Given the description of an element on the screen output the (x, y) to click on. 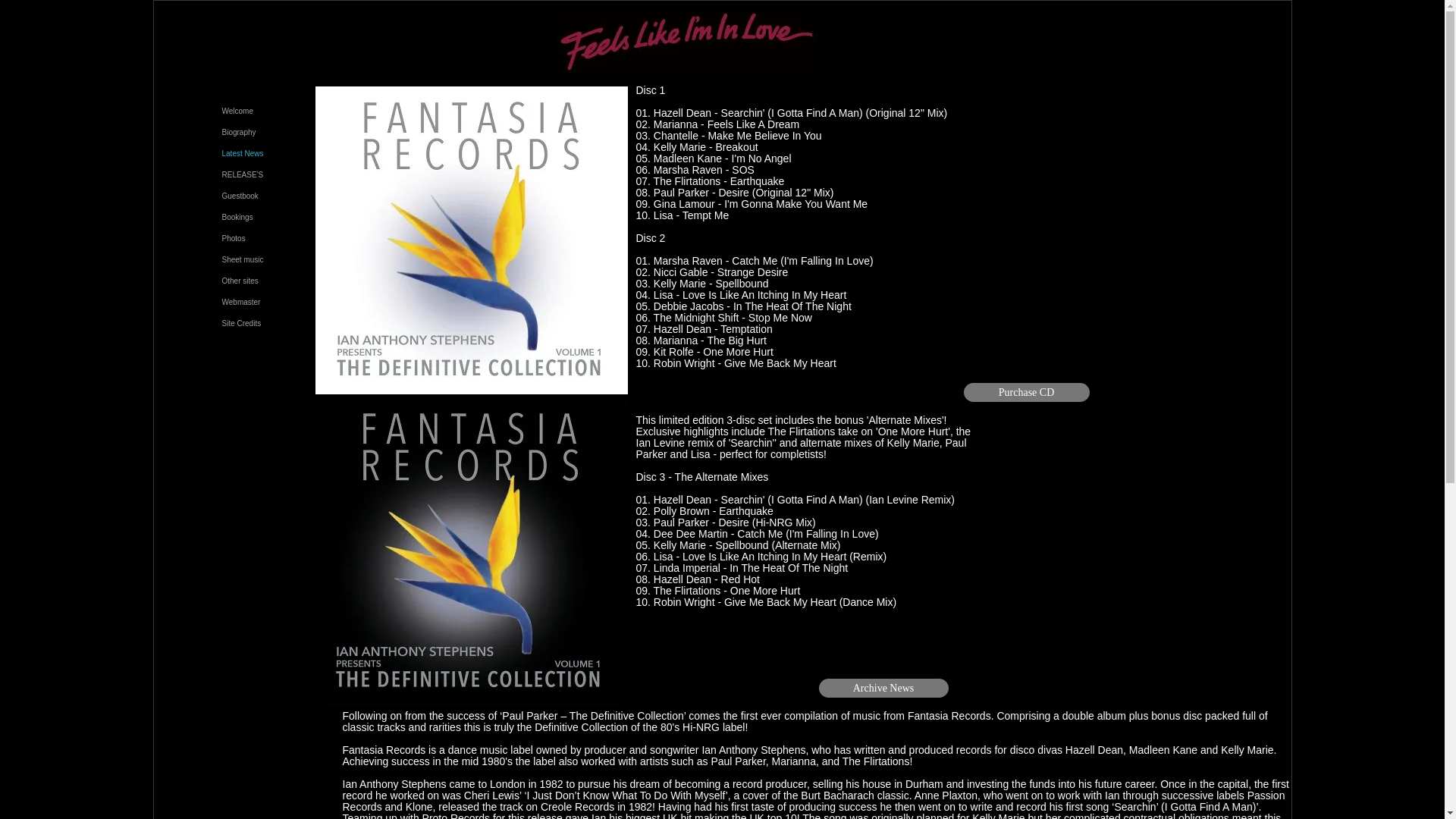
Webmaster (241, 301)
Photos (234, 238)
Welcome (237, 110)
Archive News (883, 687)
Bookings (237, 217)
Latest News (242, 153)
Biography (239, 132)
Site Credits (242, 322)
Sheet music (242, 259)
Purchase CD (1025, 392)
